Given the description of an element on the screen output the (x, y) to click on. 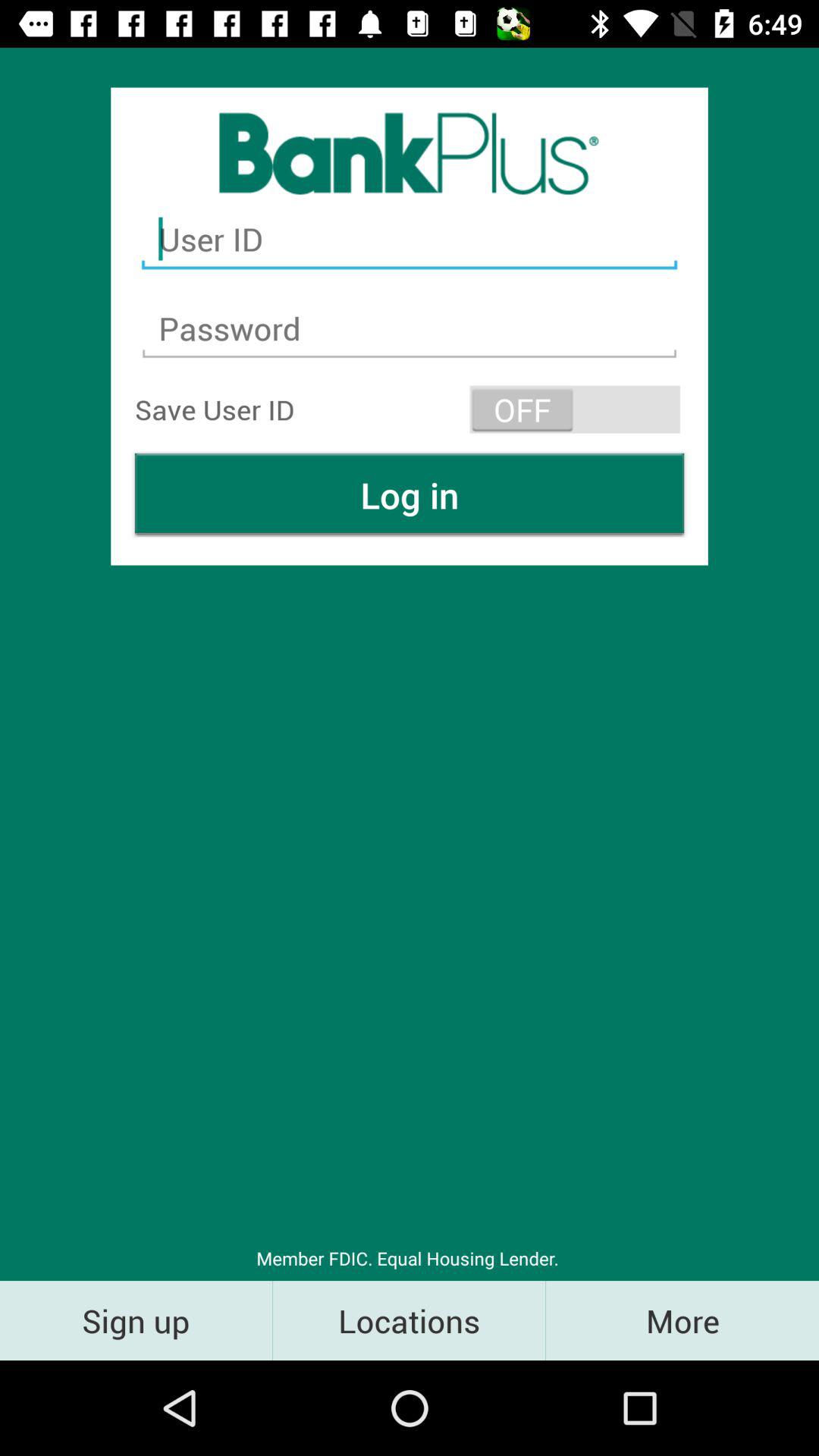
click item next to sign up (409, 1320)
